Given the description of an element on the screen output the (x, y) to click on. 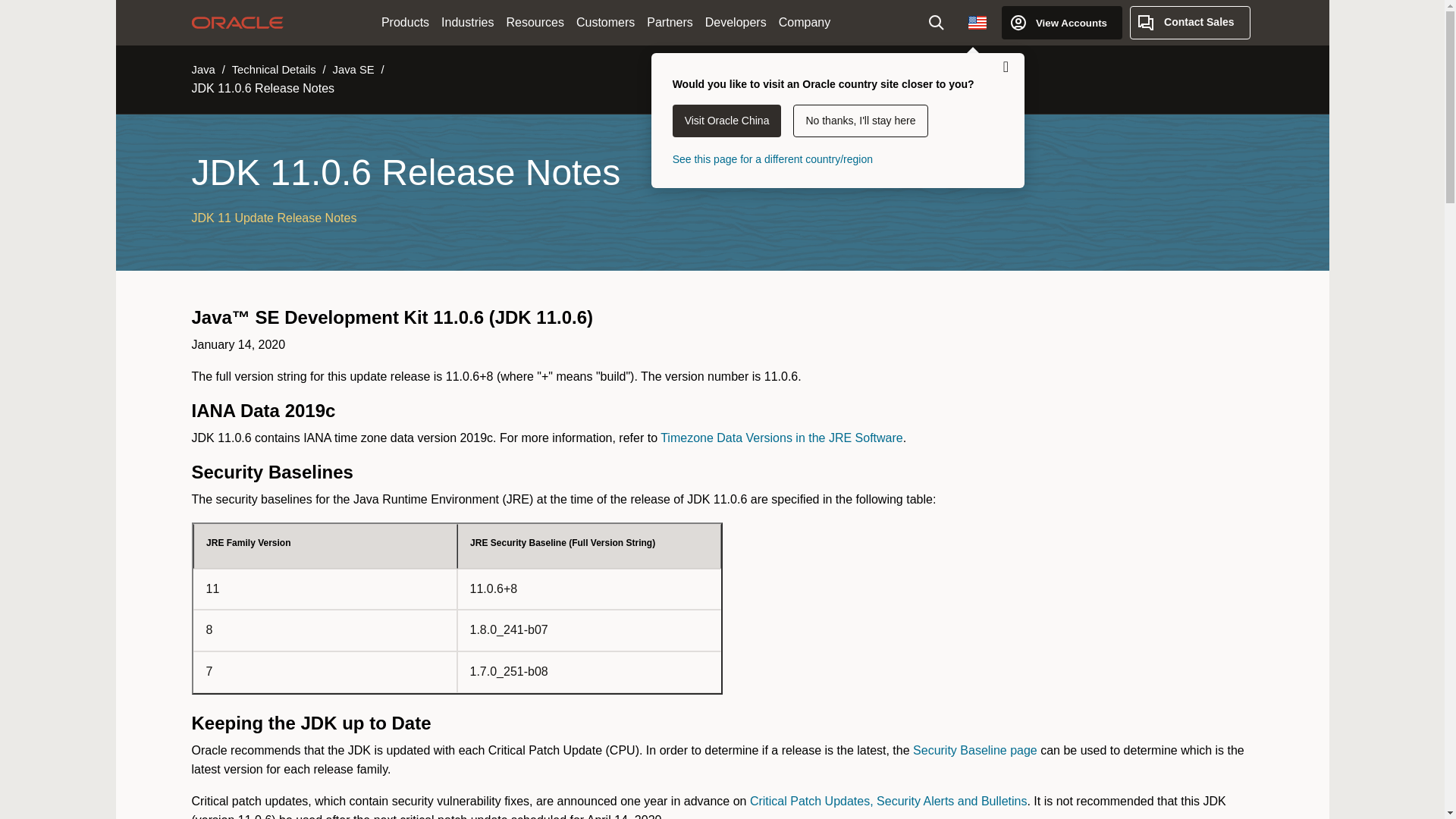
Developers (735, 22)
View Accounts (1061, 22)
Products (405, 22)
Java SE (353, 69)
Industries (467, 22)
Partners (669, 22)
JDK 11 Update Release Notes (273, 217)
No thanks, I'll stay here (860, 120)
Java (202, 69)
Company (804, 22)
Technical Details (273, 69)
Resources (534, 22)
Visit Oracle China (726, 120)
Contact Sales (1189, 22)
Contact Sales (1189, 22)
